Given the description of an element on the screen output the (x, y) to click on. 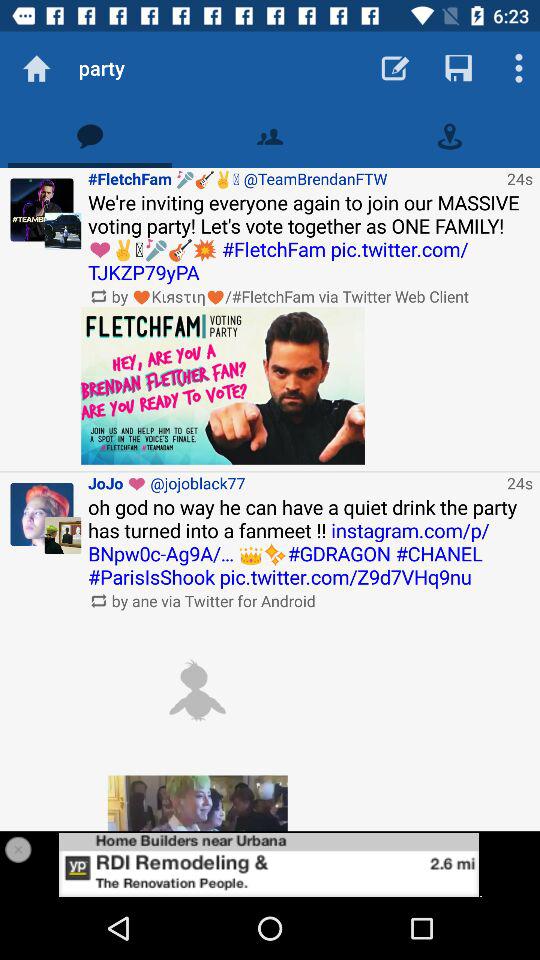
click icon above oh god no icon (294, 482)
